Given the description of an element on the screen output the (x, y) to click on. 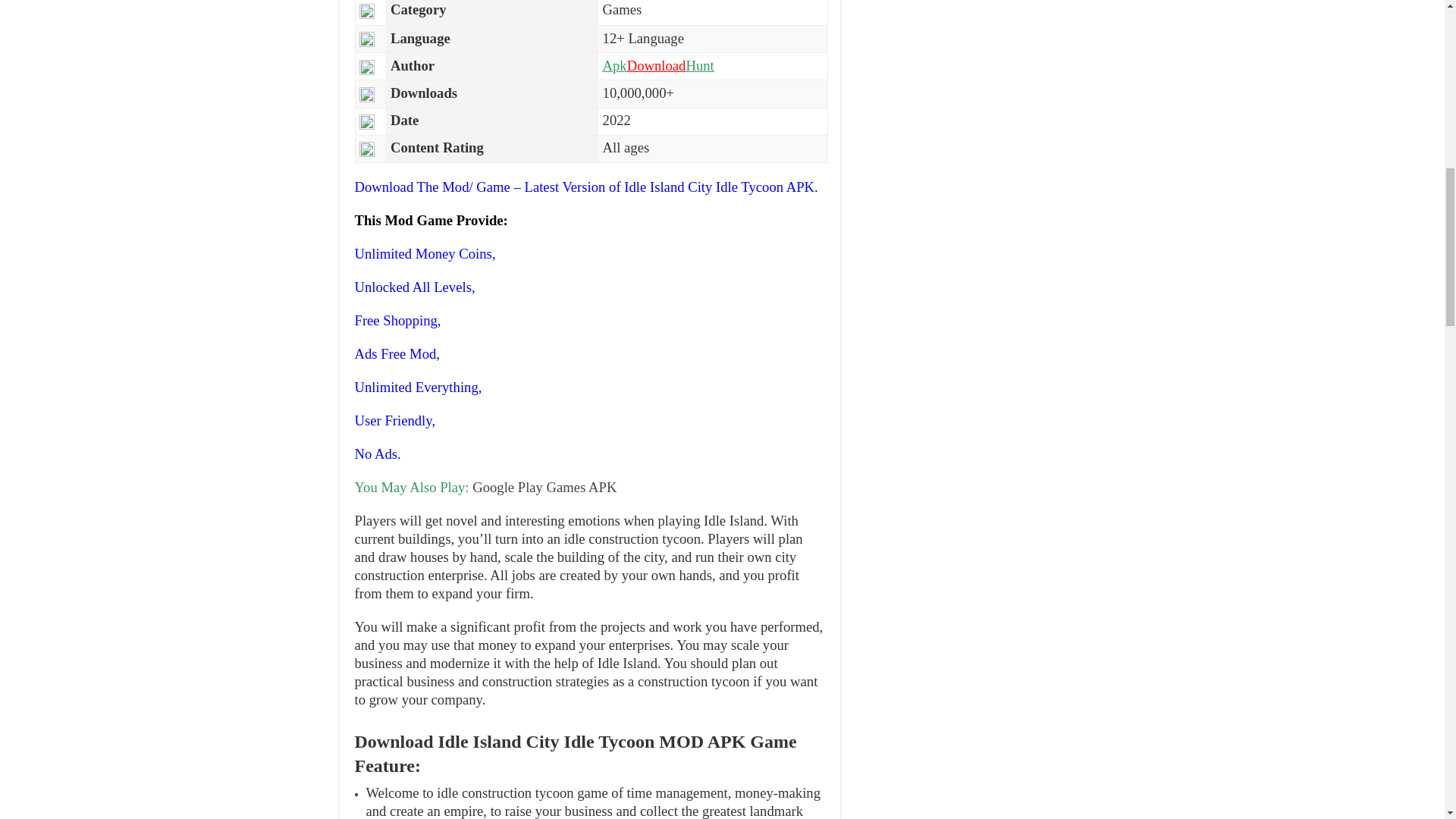
Scroll To Top (1421, 60)
Google Play Games APK (543, 487)
ApkDownloadHunt (658, 65)
